Given the description of an element on the screen output the (x, y) to click on. 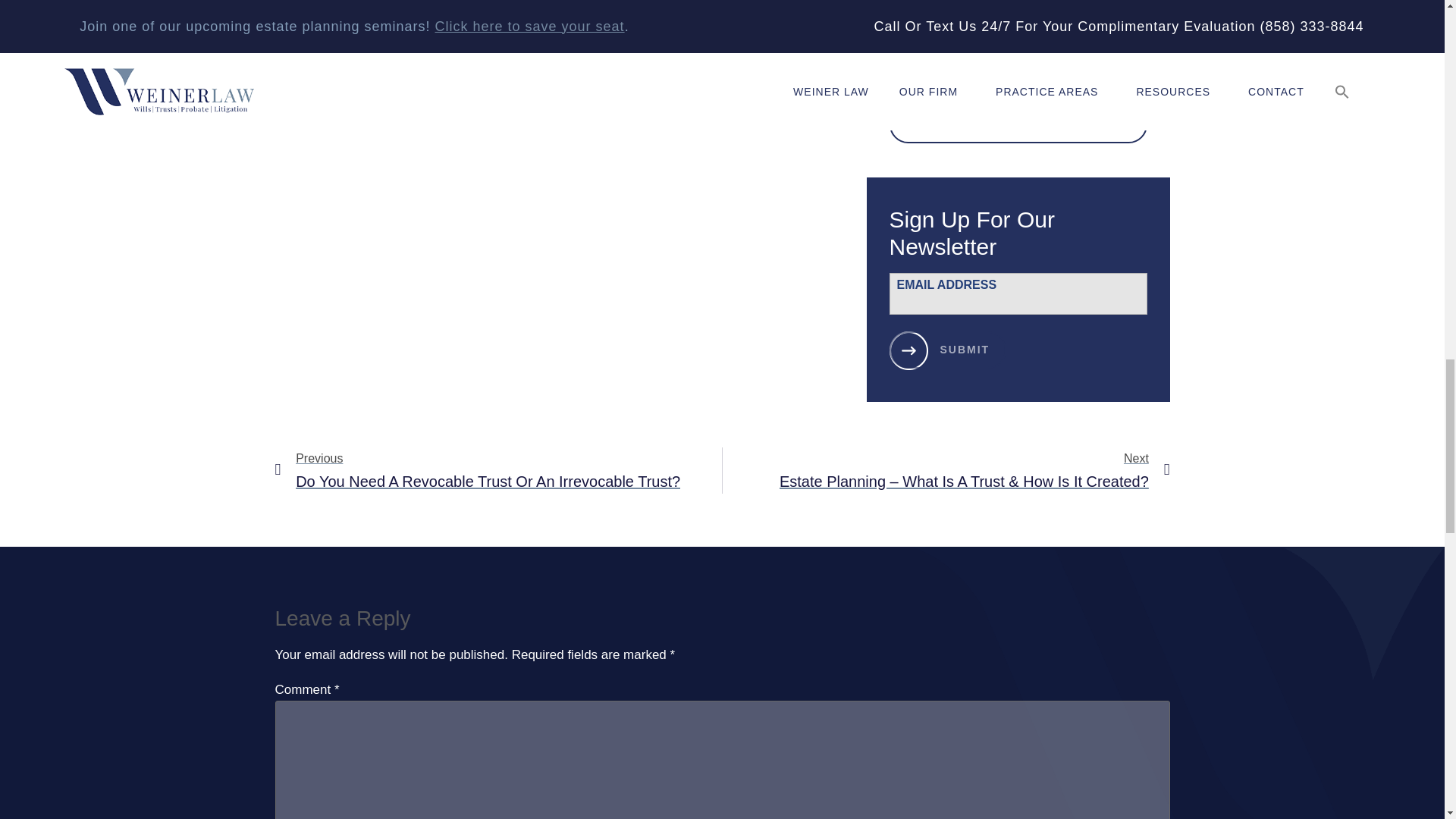
SUBMIT (947, 349)
